Given the description of an element on the screen output the (x, y) to click on. 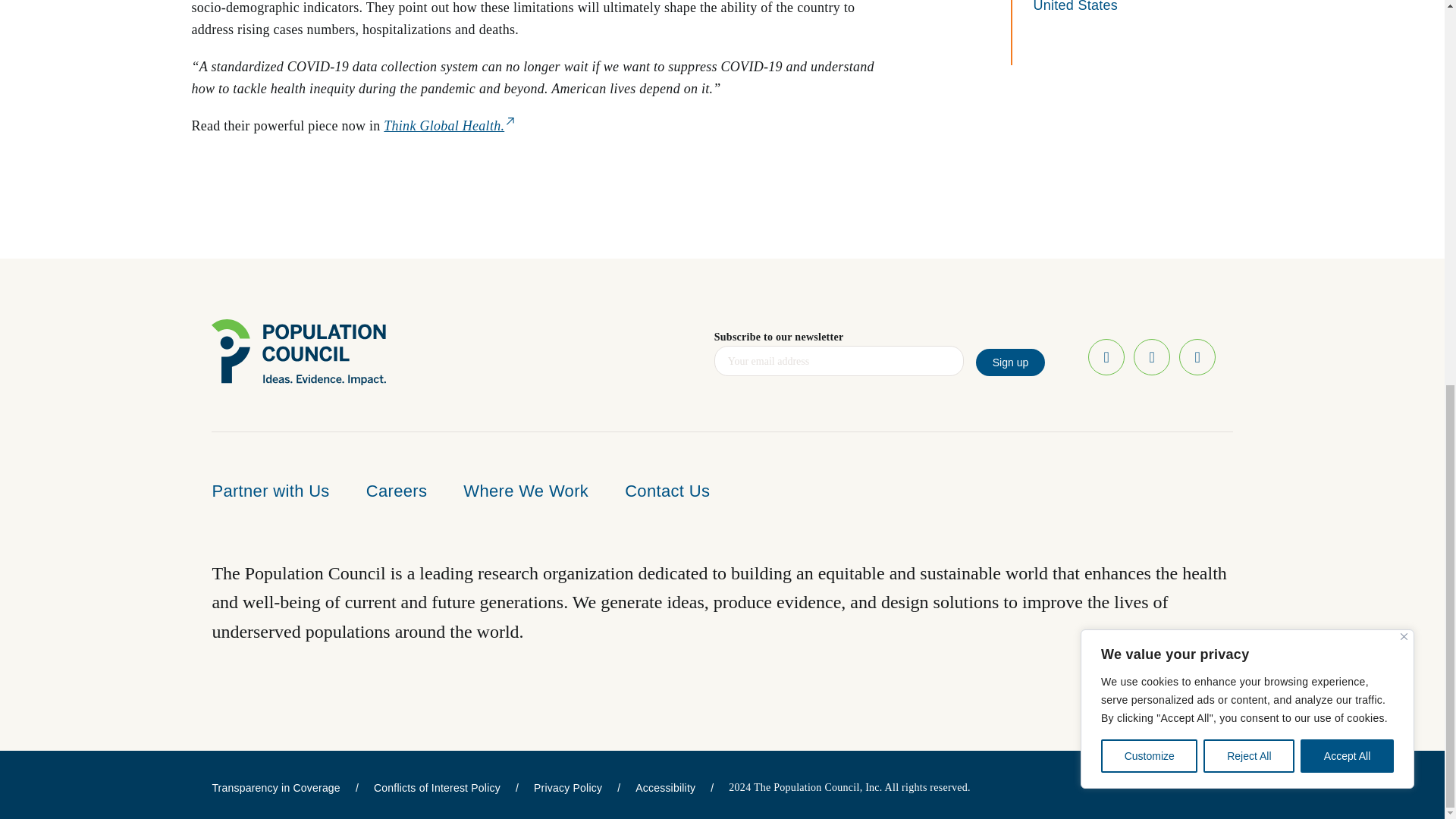
Facebook (1105, 357)
Customize (1148, 30)
Reject All (1249, 30)
Sign up (1010, 361)
X (1152, 357)
LinkedIn (1197, 357)
Accept All (1346, 30)
